Given the description of an element on the screen output the (x, y) to click on. 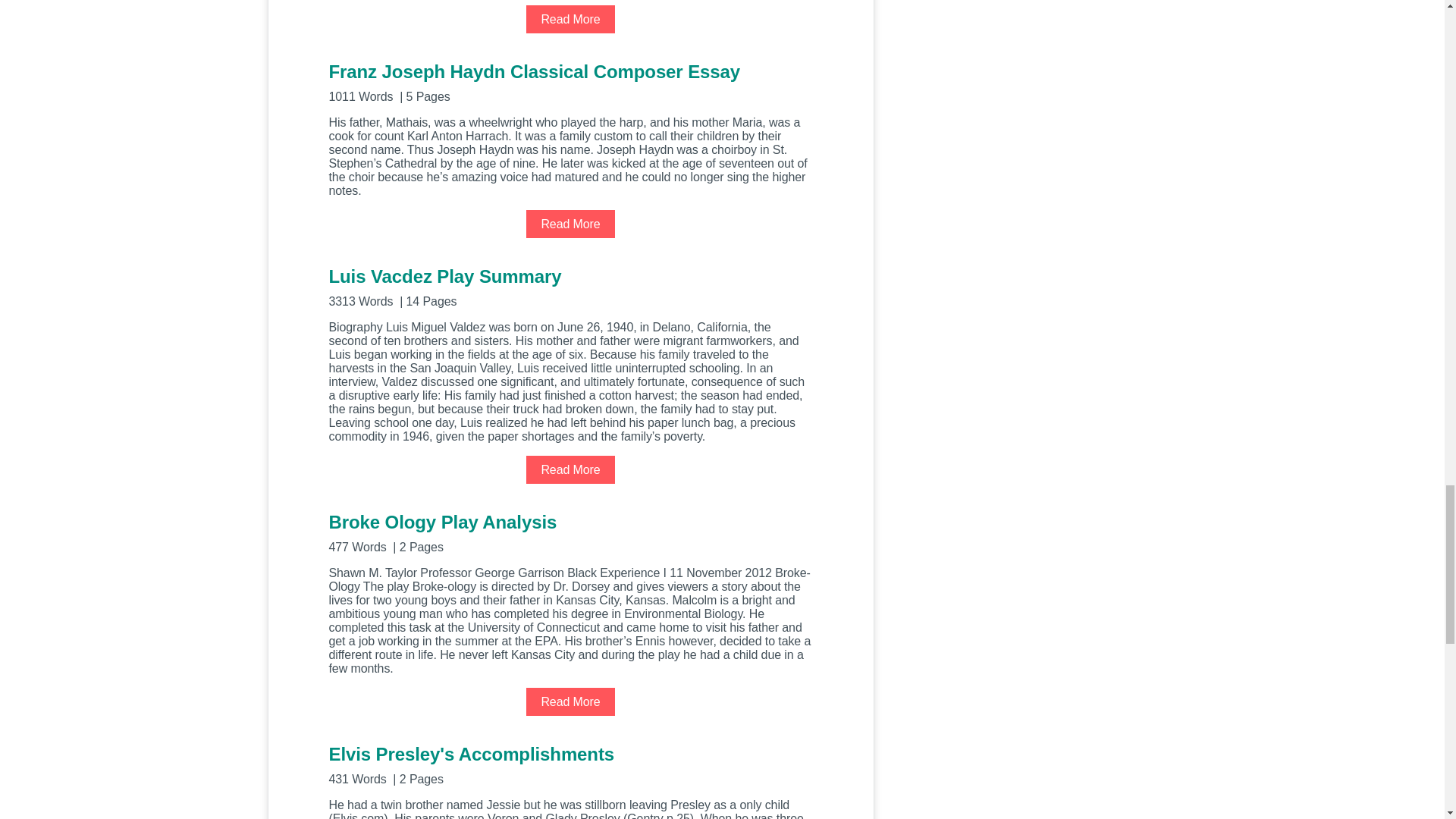
Read More (569, 469)
Read More (569, 223)
Elvis Presley's Accomplishments (570, 763)
Luis Vacdez Play Summary (570, 285)
Read More (569, 18)
Read More (569, 701)
Broke Ology Play Analysis (570, 531)
Franz Joseph Haydn Classical Composer Essay (570, 81)
